Given the description of an element on the screen output the (x, y) to click on. 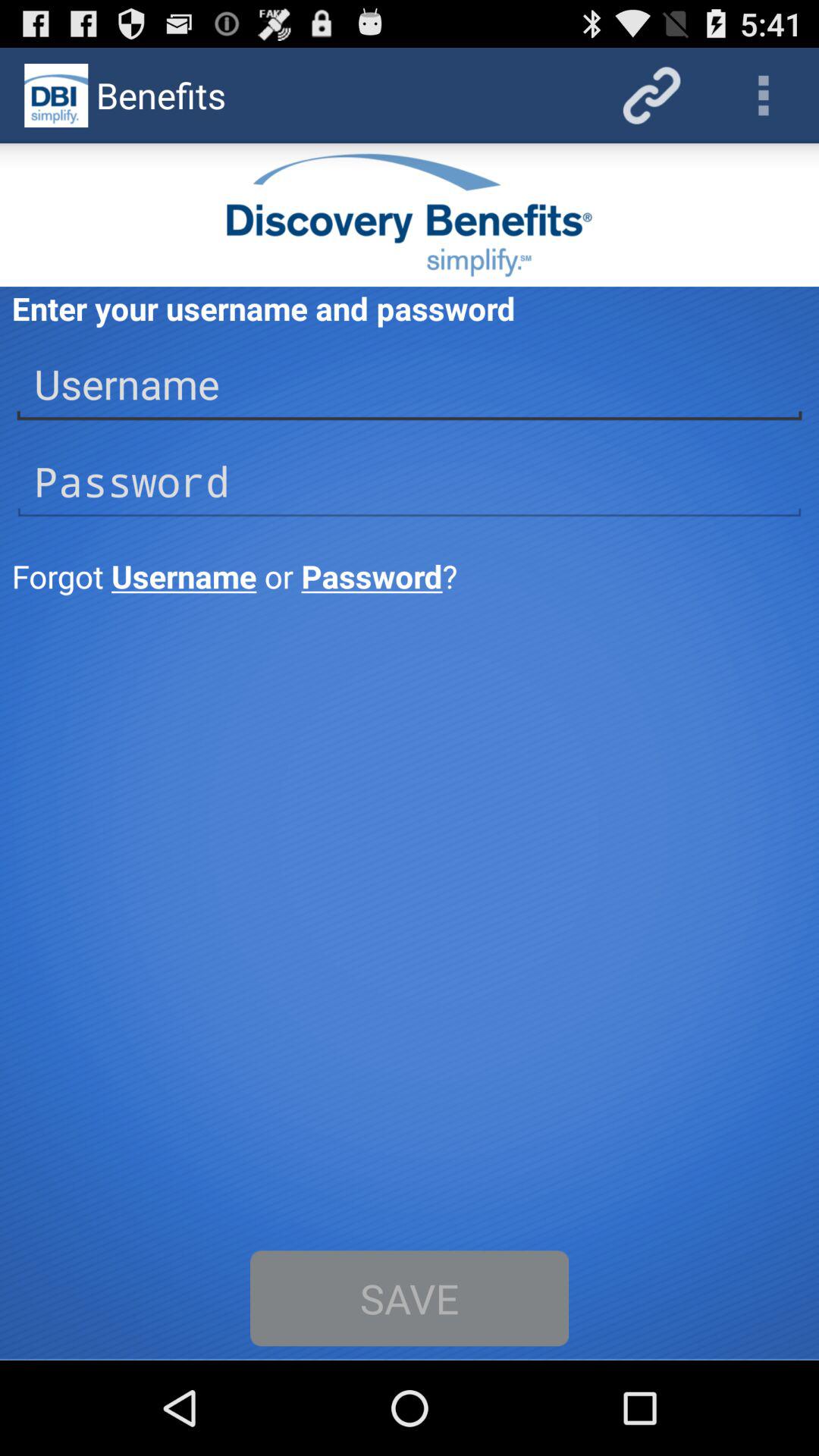
enter username (409, 384)
